Given the description of an element on the screen output the (x, y) to click on. 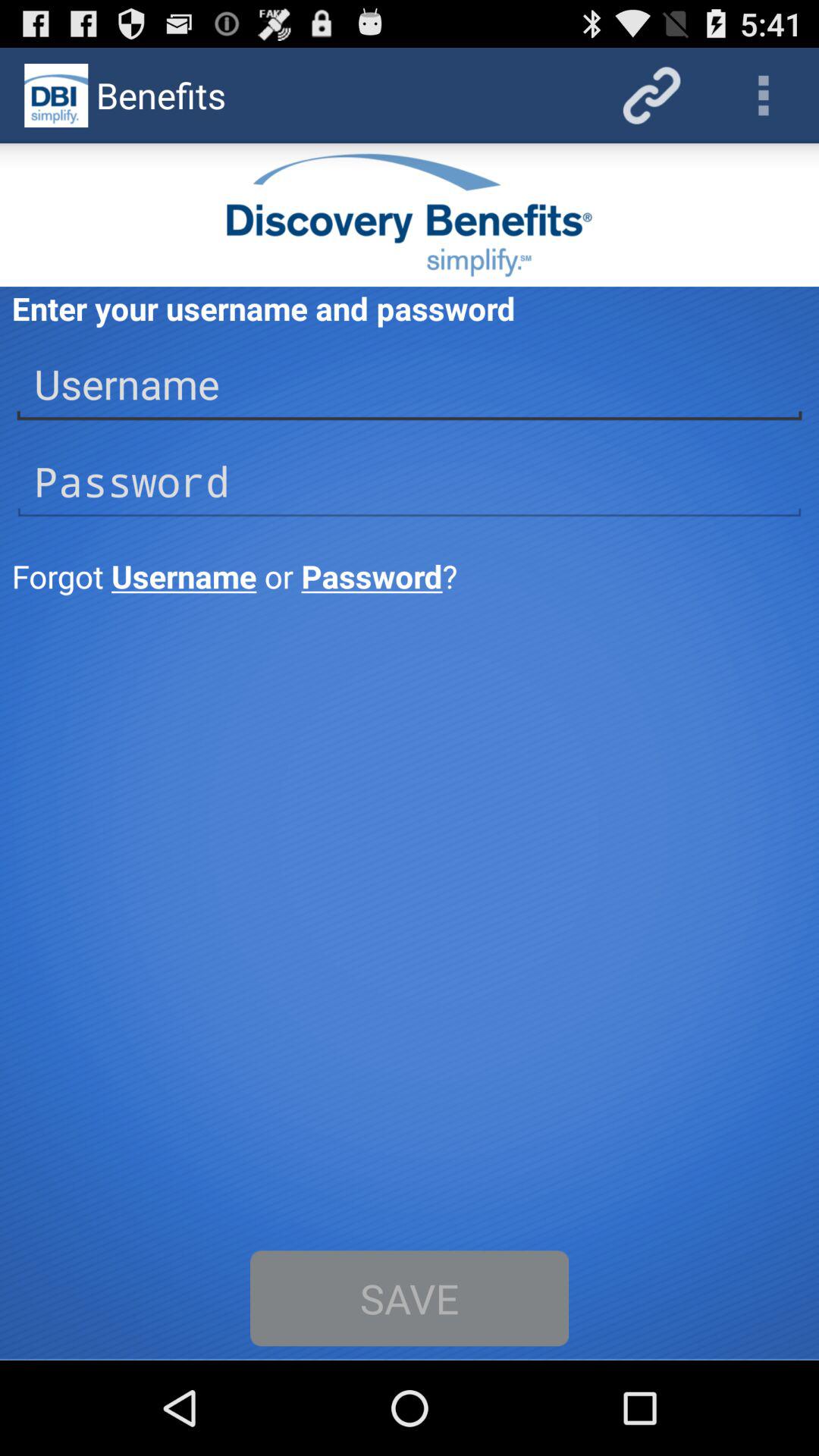
enter username (409, 384)
